Given the description of an element on the screen output the (x, y) to click on. 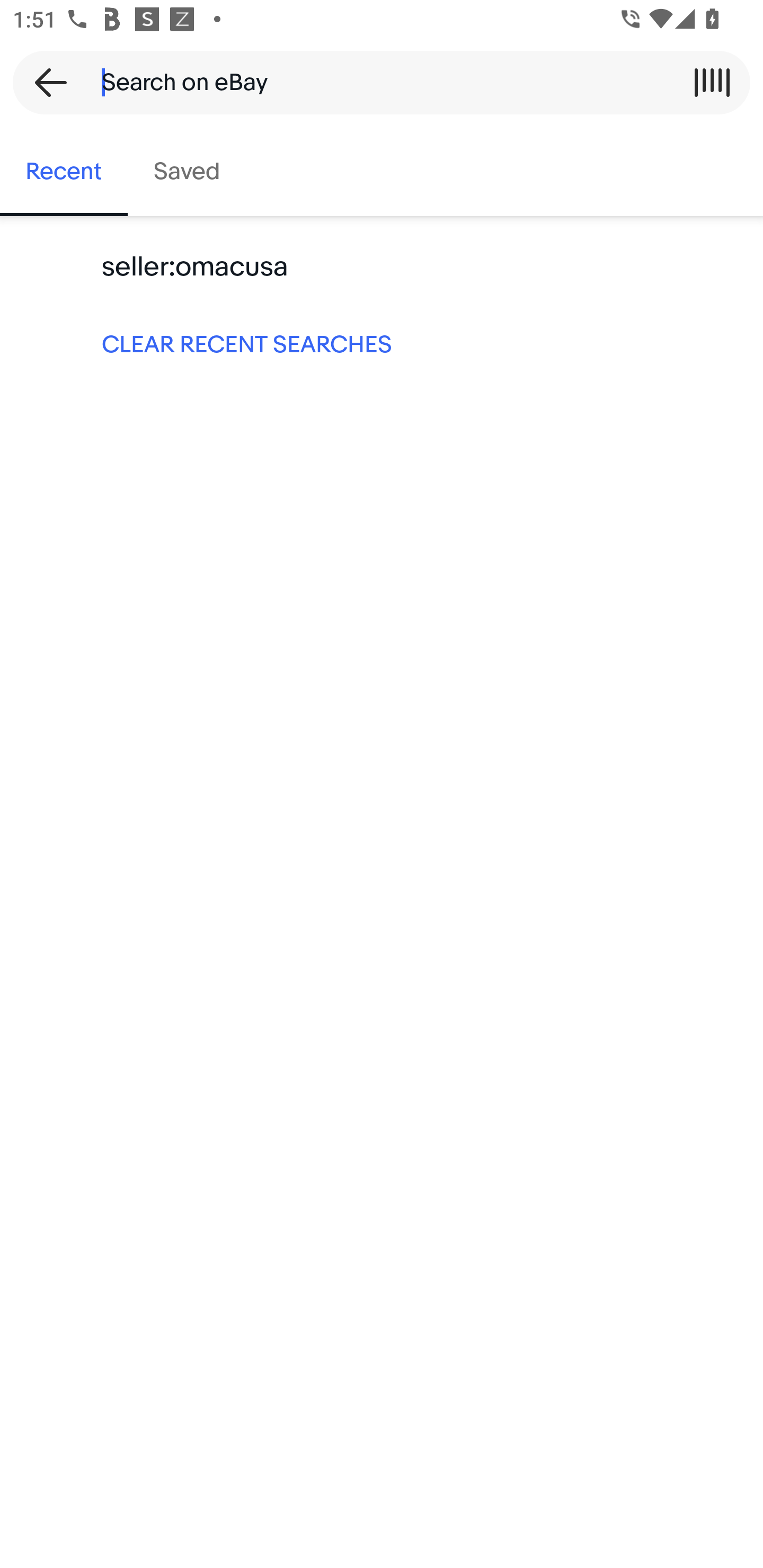
Back (44, 82)
Scan a barcode (711, 82)
Search on eBay (375, 82)
Saved, tab 2 of 2 Saved (186, 171)
seller:omacusa Keyword search seller:omacusa: (381, 266)
CLEAR RECENT SEARCHES (381, 343)
